Given the description of an element on the screen output the (x, y) to click on. 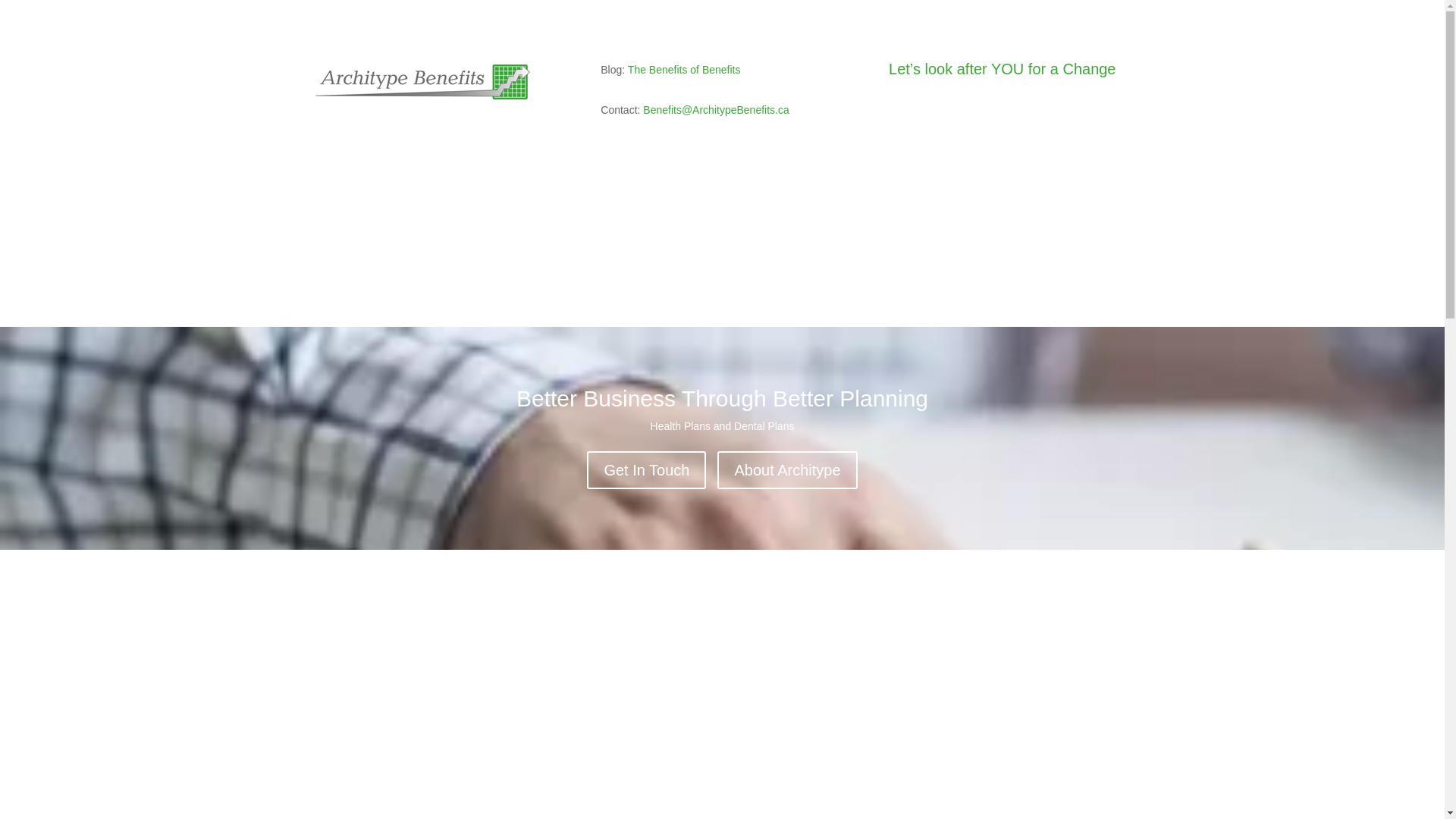
Get In Touch Element type: text (646, 470)
Architype Benefits Element type: hover (421, 81)
Benefit Plans Element type: text (650, 256)
Architype Element type: text (571, 256)
Benefits@ArchitypeBenefits.ca Element type: text (715, 109)
Why Us Element type: text (731, 256)
The Benefits of Benefits Element type: text (683, 69)
About Architype Element type: text (786, 470)
Resources Element type: text (799, 256)
Contact Us Element type: text (867, 256)
